Given the description of an element on the screen output the (x, y) to click on. 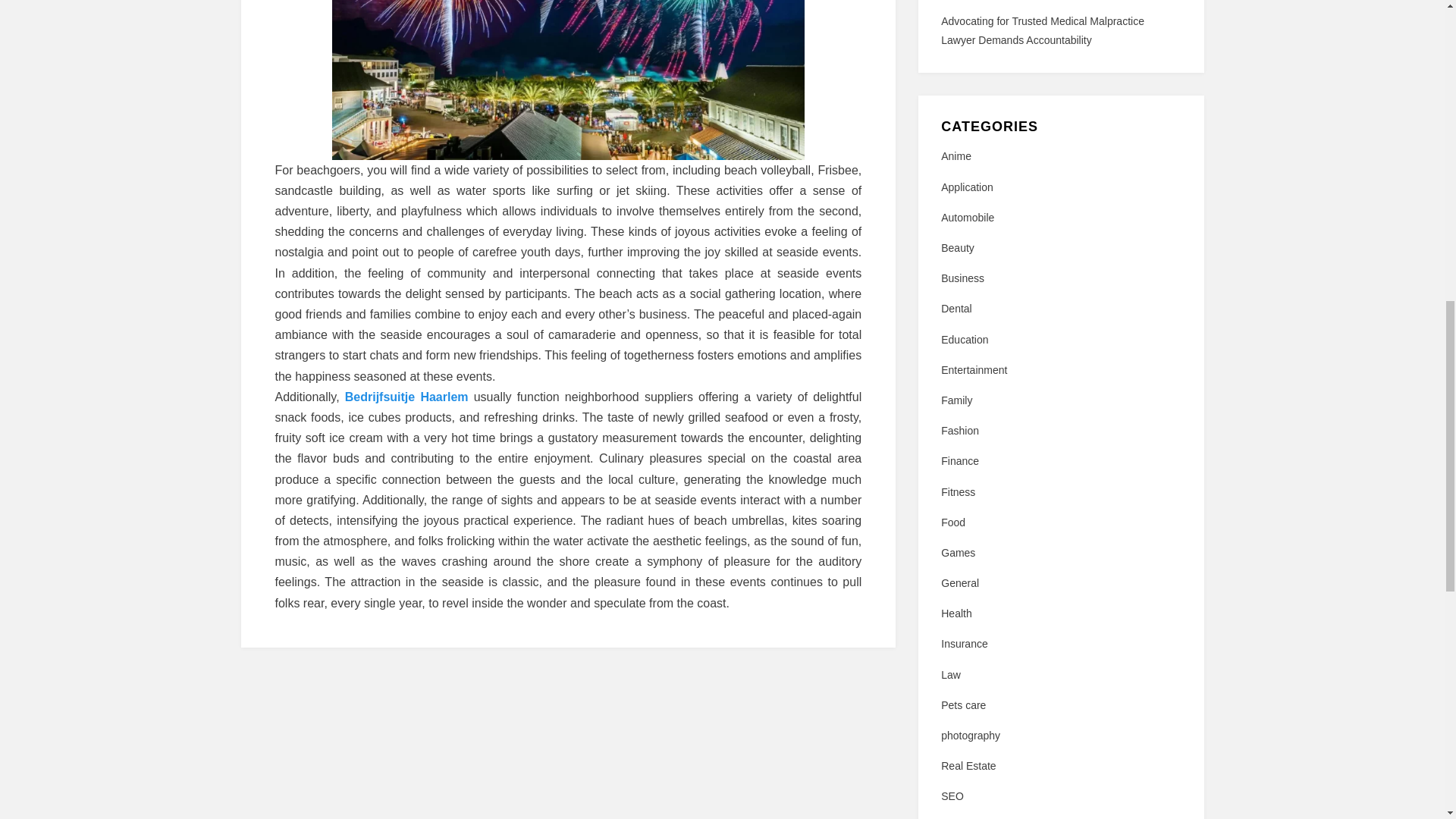
Food (1060, 522)
Business (1060, 278)
Anime (1060, 156)
photography (1060, 735)
Pets care (1060, 705)
Insurance (1060, 643)
Bedrijfsuitje Haarlem (406, 396)
Games (1060, 552)
Law (1060, 674)
Beauty (1060, 248)
Finance (1060, 461)
General (1060, 583)
Entertainment (1060, 370)
Application (1060, 187)
